Given the description of an element on the screen output the (x, y) to click on. 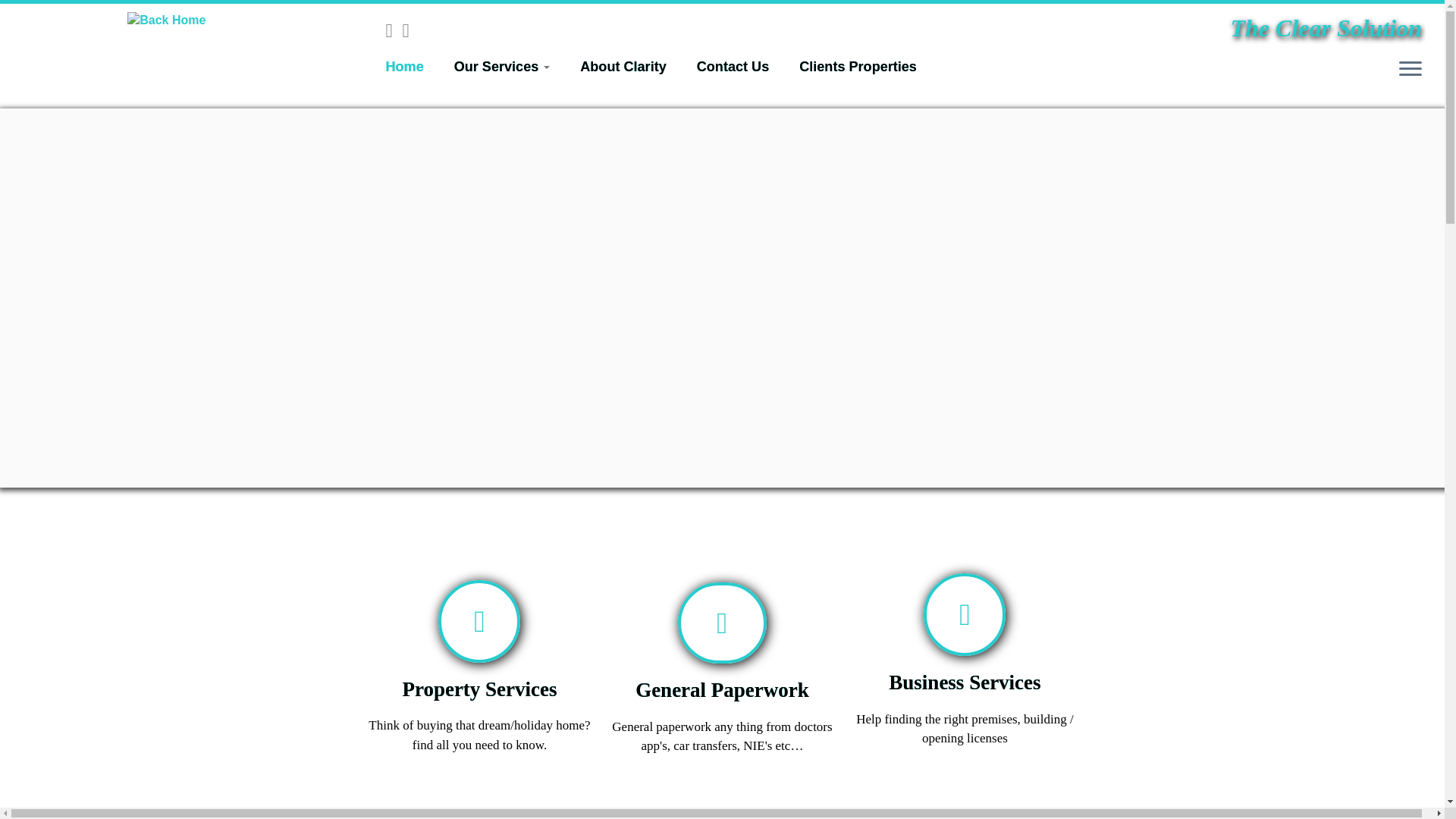
Clients Properties (850, 66)
Contact Us (732, 66)
Home (409, 66)
About Clarity (622, 66)
Open the menu (1410, 69)
Our Services (502, 66)
